Given the description of an element on the screen output the (x, y) to click on. 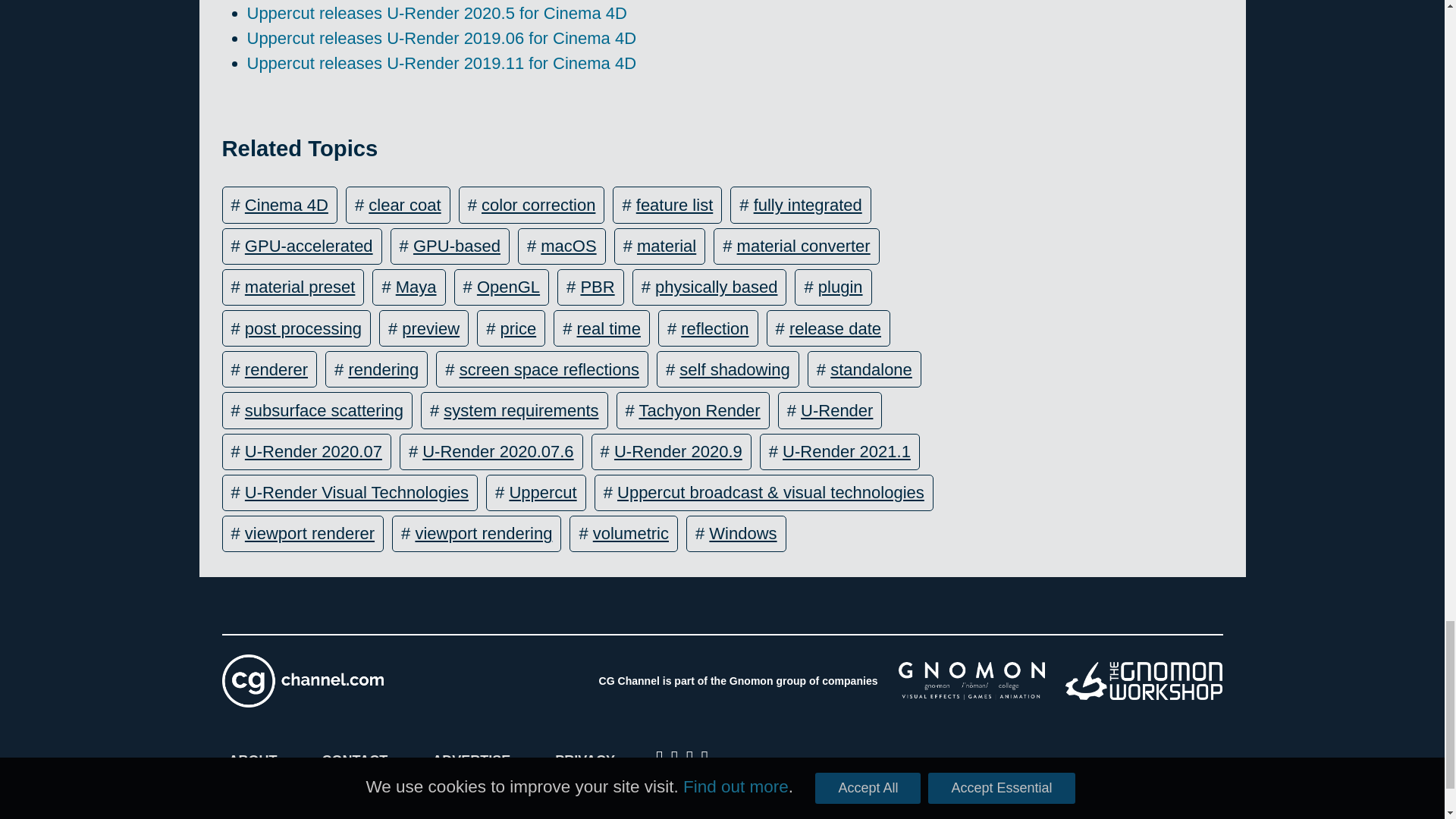
Gnomon School (970, 680)
material preset (299, 286)
GPU-based (456, 245)
clear coat (404, 204)
Uppercut releases U-Render 2019.11 for Cinema 4D (442, 63)
material (666, 245)
Uppercut releases U-Render 2019.11 for Cinema 4D (442, 63)
fully integrated (807, 204)
macOS (567, 245)
Uppercut releases U-Render 2020.5 for Cinema 4D (437, 13)
